Given the description of an element on the screen output the (x, y) to click on. 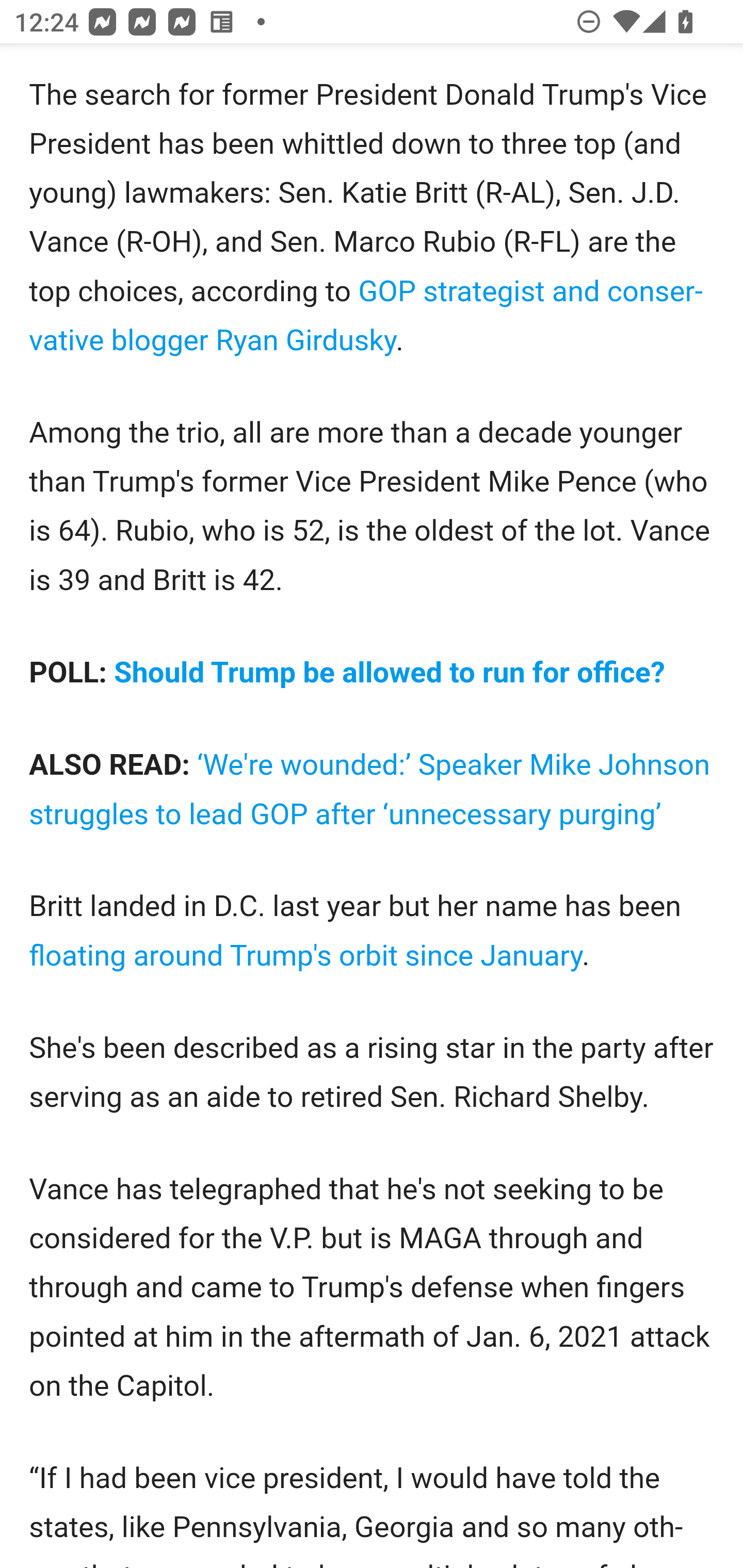
Should Trump be allowed to run for office? (389, 672)
floating around Trump's orbit since January (305, 956)
